Given the description of an element on the screen output the (x, y) to click on. 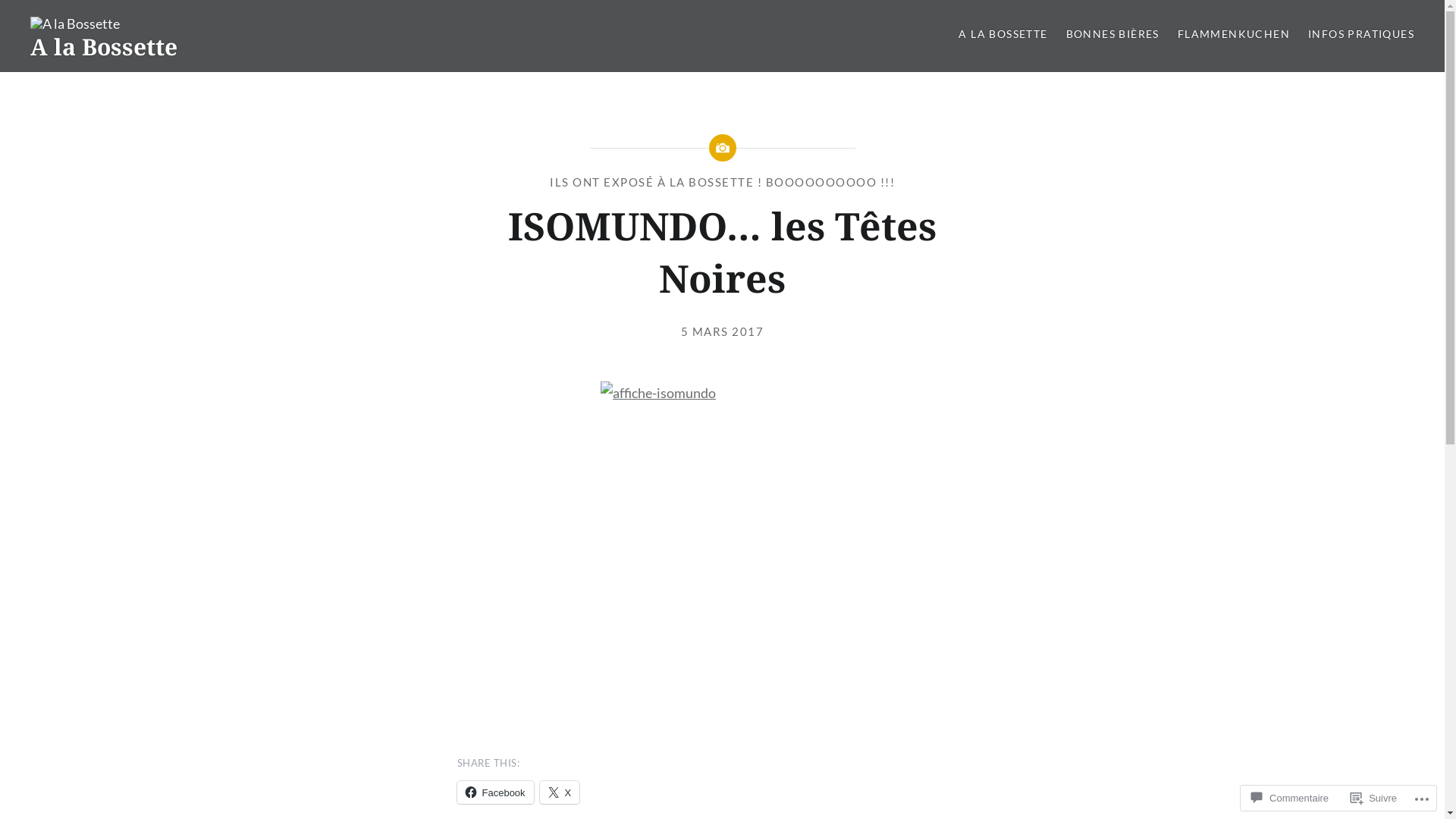
A la Bossette Element type: text (103, 46)
Commentaire Element type: text (1289, 797)
A LA BOSSETTE Element type: text (1002, 34)
5 MARS 2017 Element type: text (722, 331)
FLAMMENKUCHEN Element type: text (1233, 34)
INFOS PRATIQUES Element type: text (1361, 34)
X Element type: text (559, 792)
Suivre Element type: text (1373, 797)
Facebook Element type: text (494, 792)
